Given the description of an element on the screen output the (x, y) to click on. 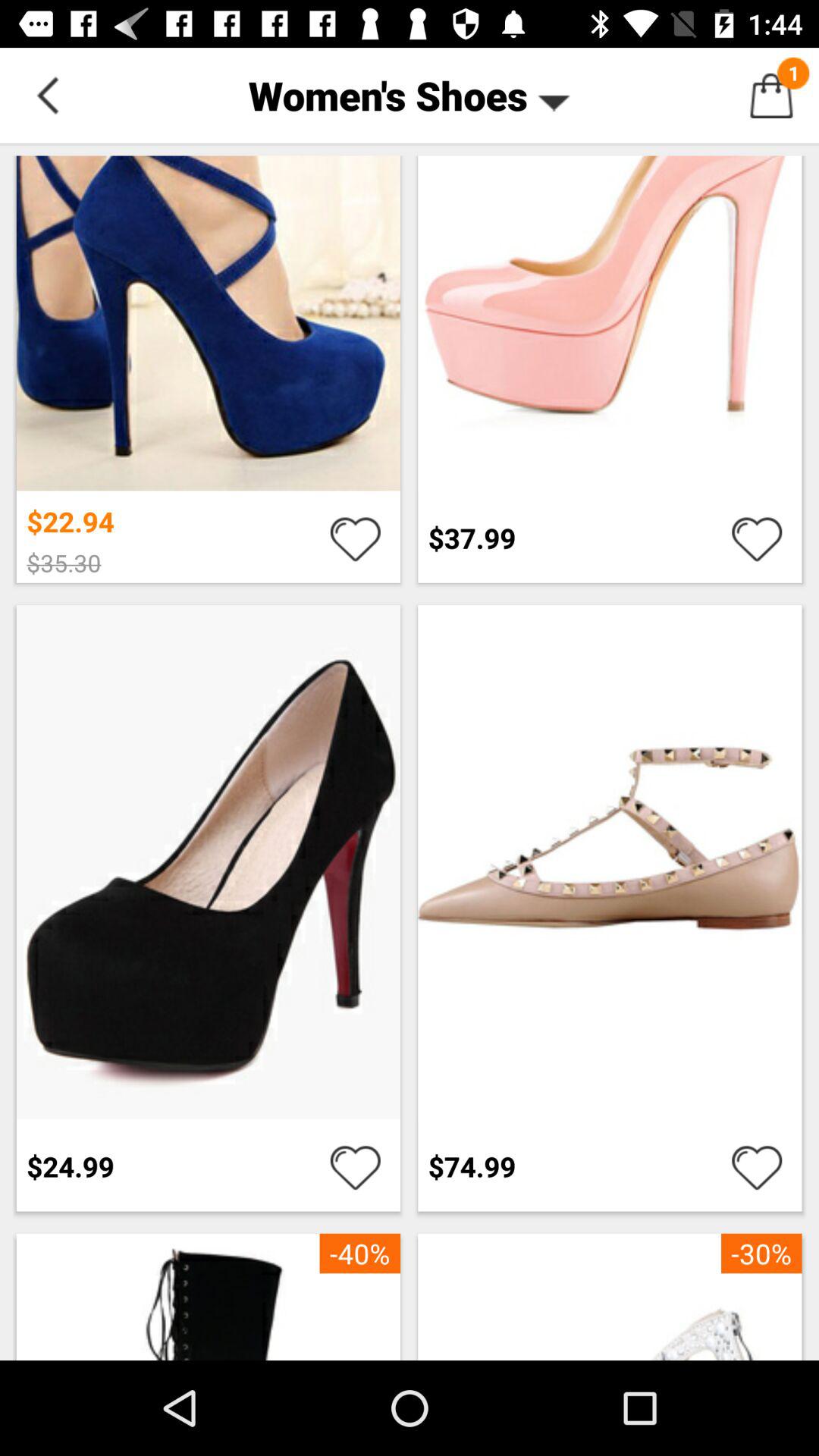
go to back (47, 95)
